Given the description of an element on the screen output the (x, y) to click on. 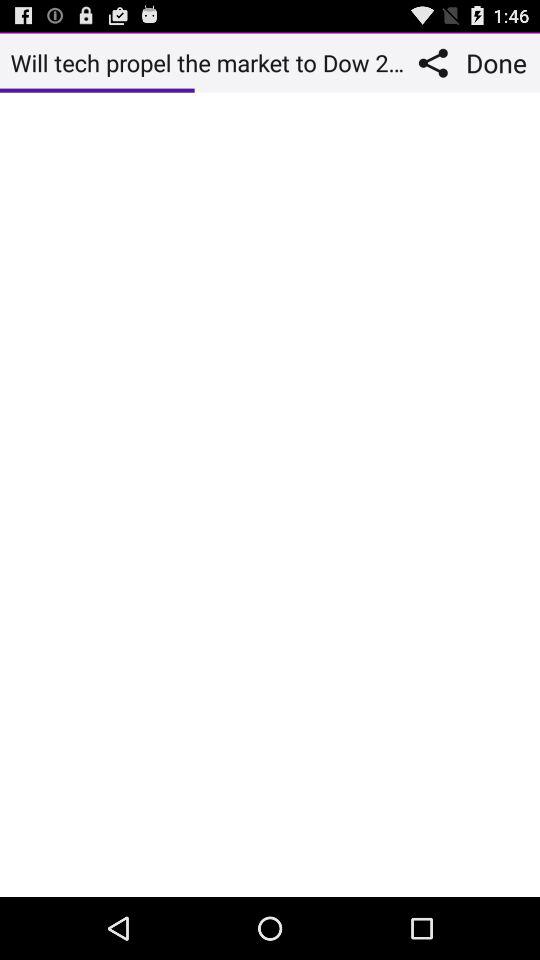
press app below the will tech propel item (270, 494)
